Given the description of an element on the screen output the (x, y) to click on. 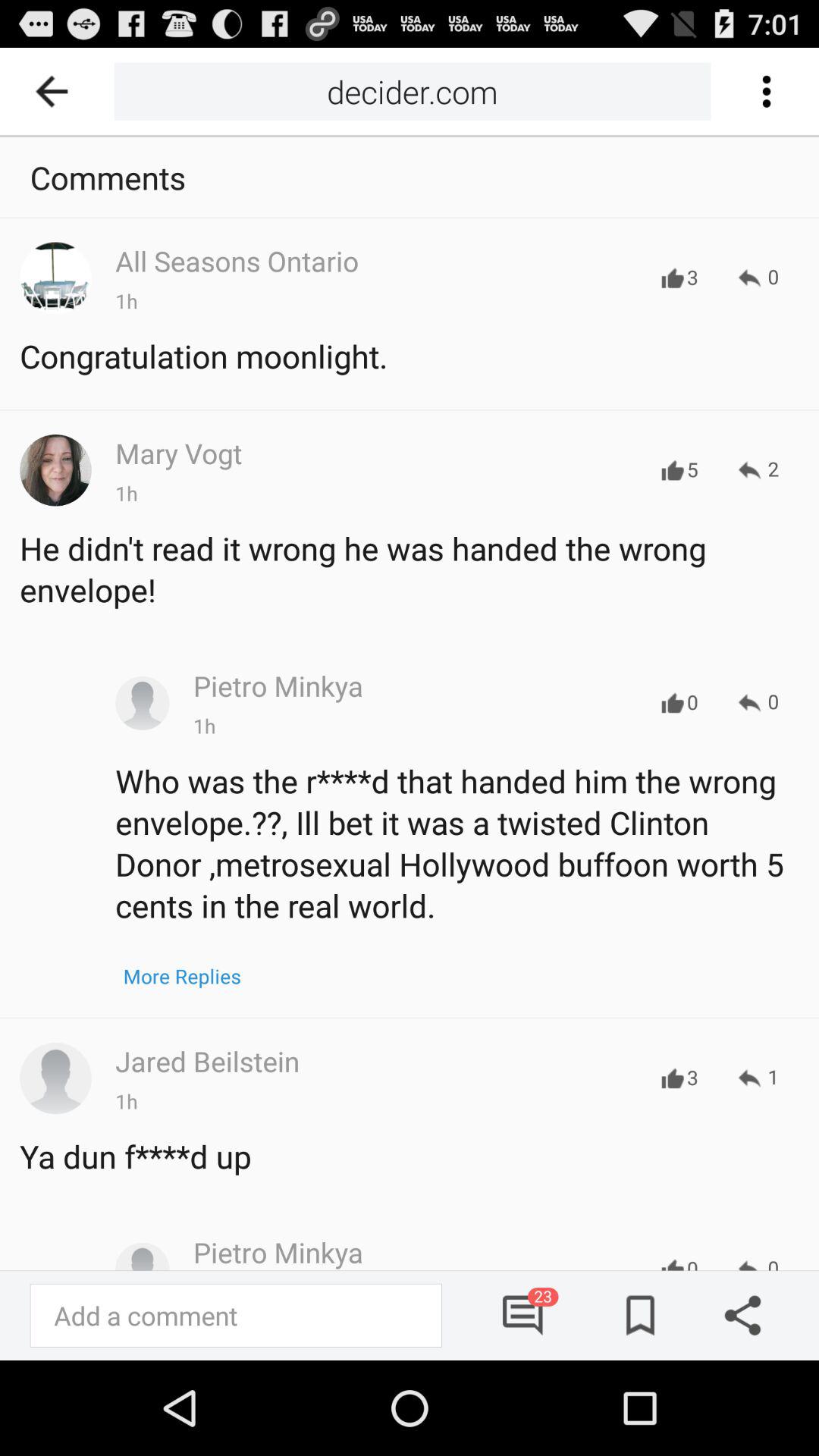
choose the icon next to the decider.com icon (57, 91)
